Given the description of an element on the screen output the (x, y) to click on. 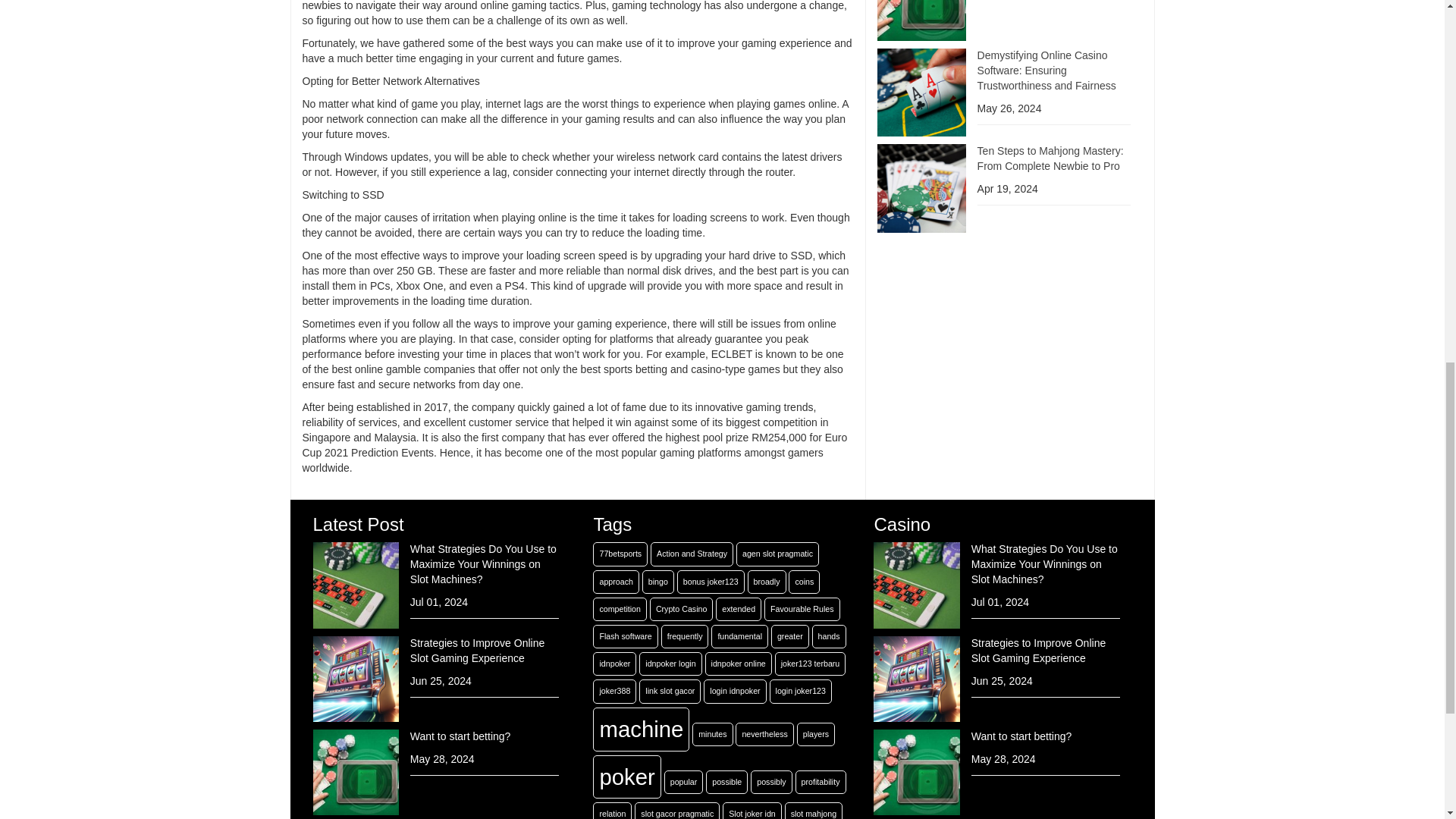
Ten Steps to Mahjong Mastery: From Complete Newbie to Pro (1050, 157)
